Given the description of an element on the screen output the (x, y) to click on. 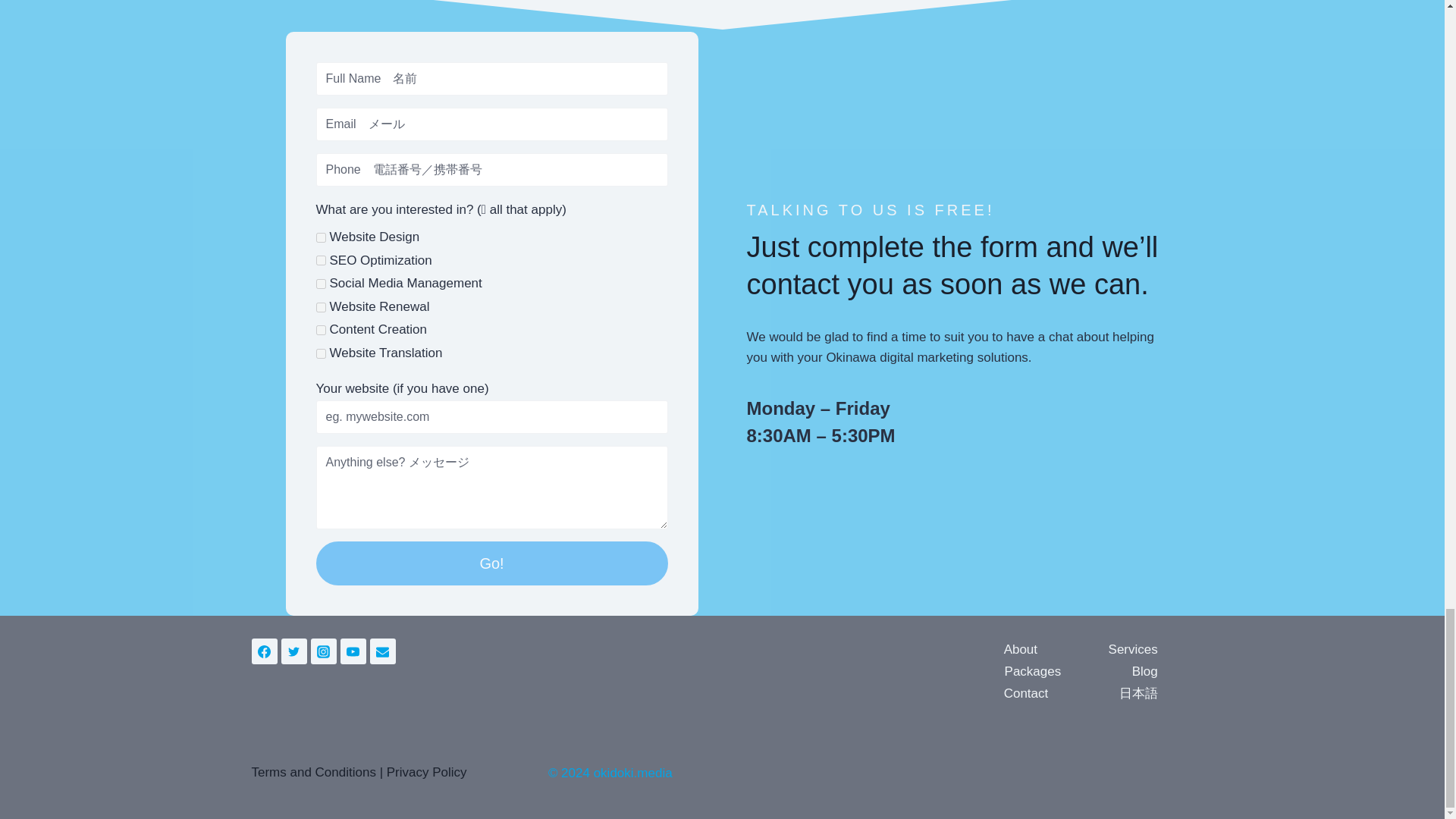
Website Translation (319, 353)
Website Design (319, 237)
Content Creation (319, 329)
Social Media Management (319, 284)
SEO Optimization (319, 260)
Website Renewal (319, 307)
